Given the description of an element on the screen output the (x, y) to click on. 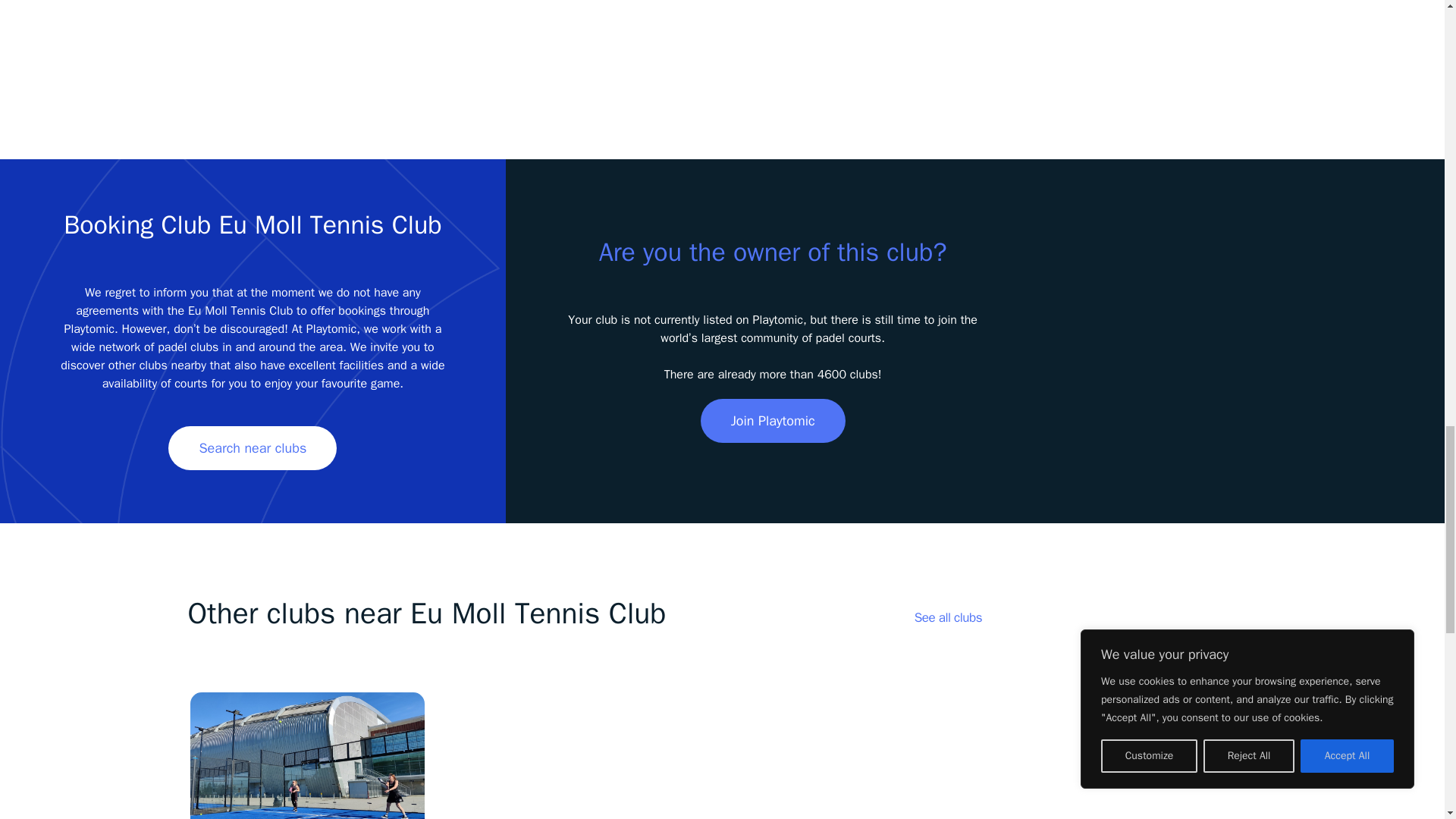
Join Playtomic (772, 420)
Search near clubs (252, 447)
See all clubs (947, 617)
